Given the description of an element on the screen output the (x, y) to click on. 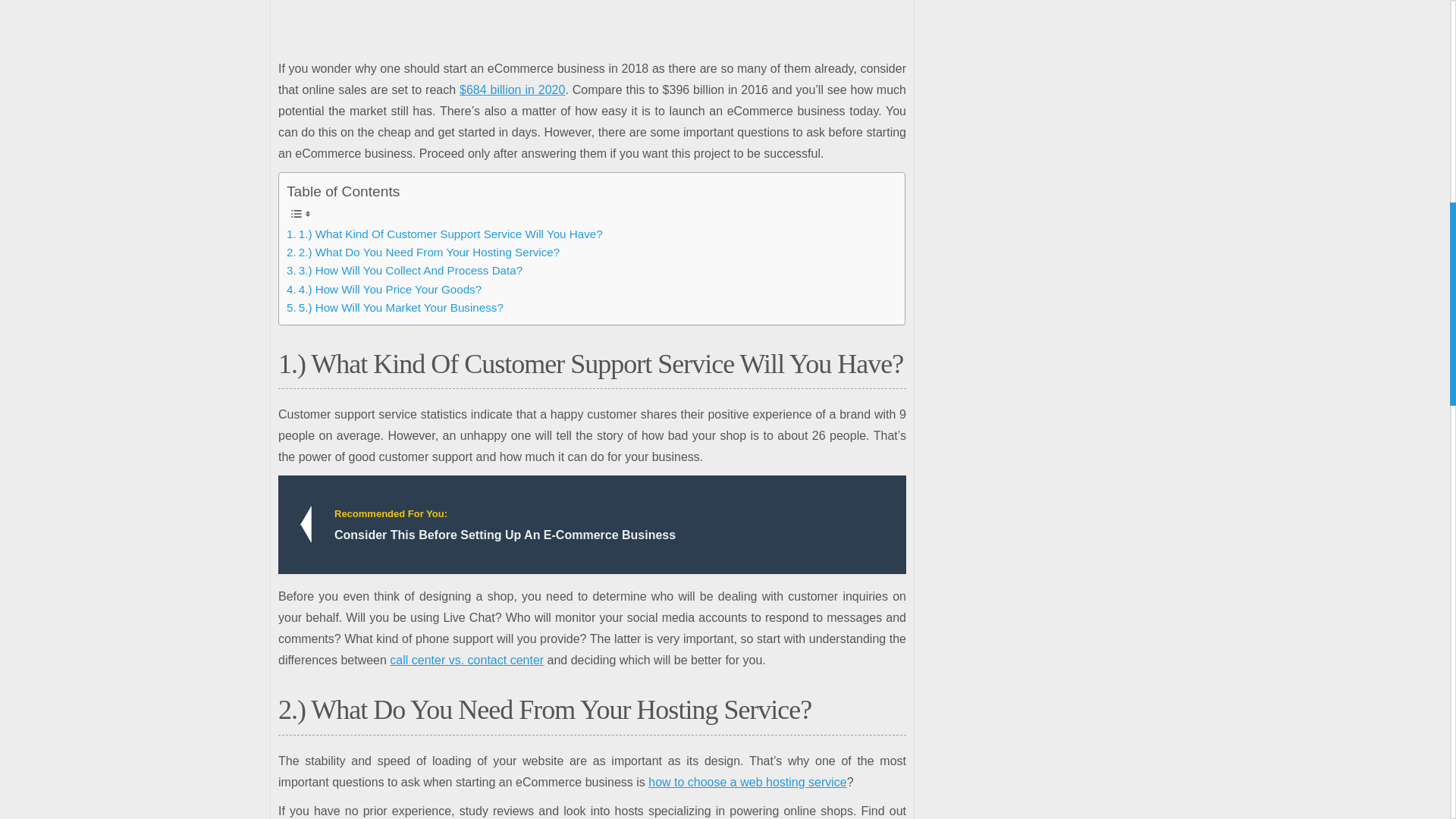
call center vs. contact center (466, 659)
how to choose a web hosting service (746, 781)
